Given the description of an element on the screen output the (x, y) to click on. 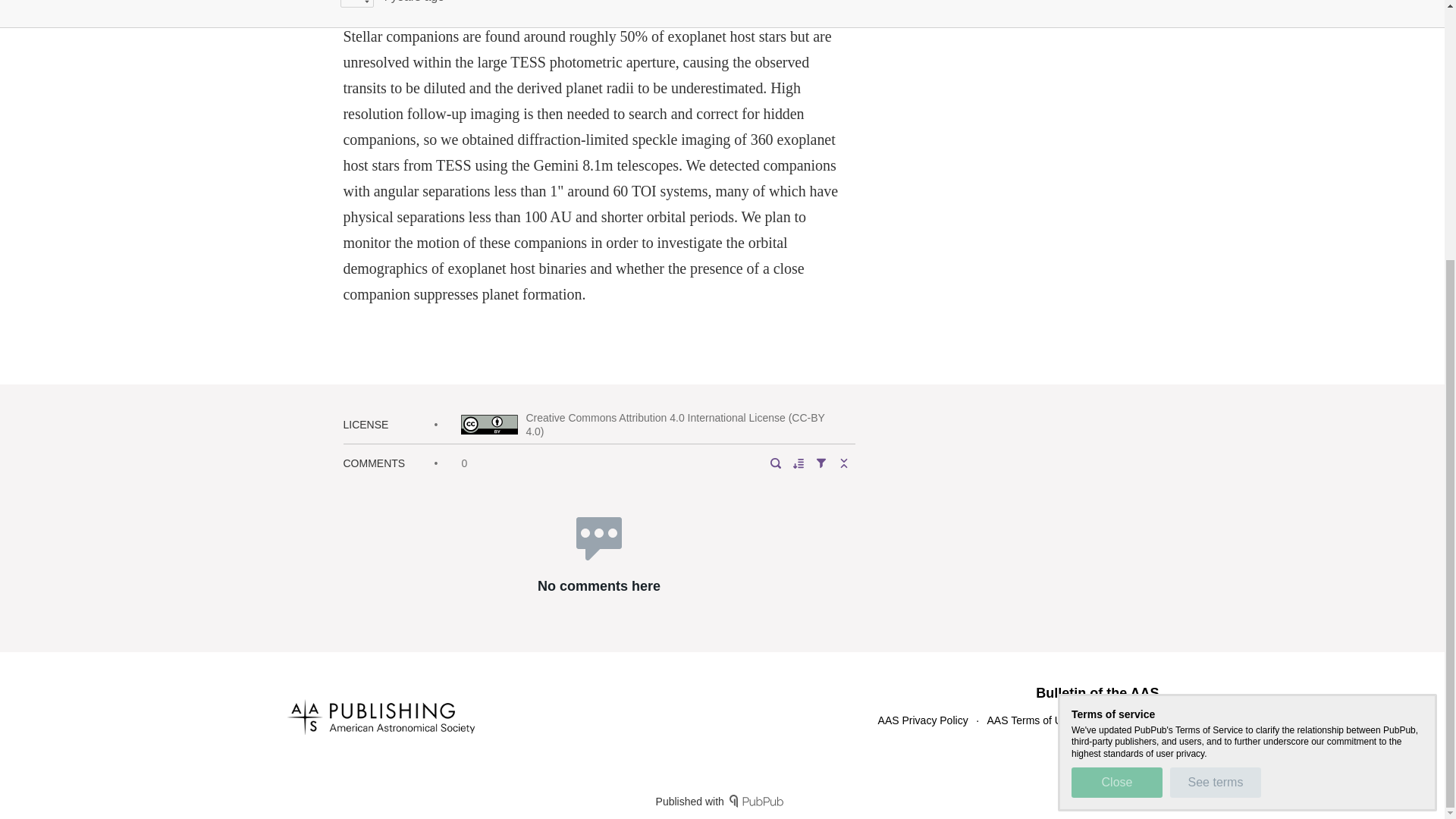
Close (1116, 410)
AAS Terms of Use (1030, 720)
See terms (1215, 410)
Legal (1145, 720)
Bulletin of the AAS (1096, 693)
RSS (1104, 720)
AAS Privacy Policy (922, 720)
